Given the description of an element on the screen output the (x, y) to click on. 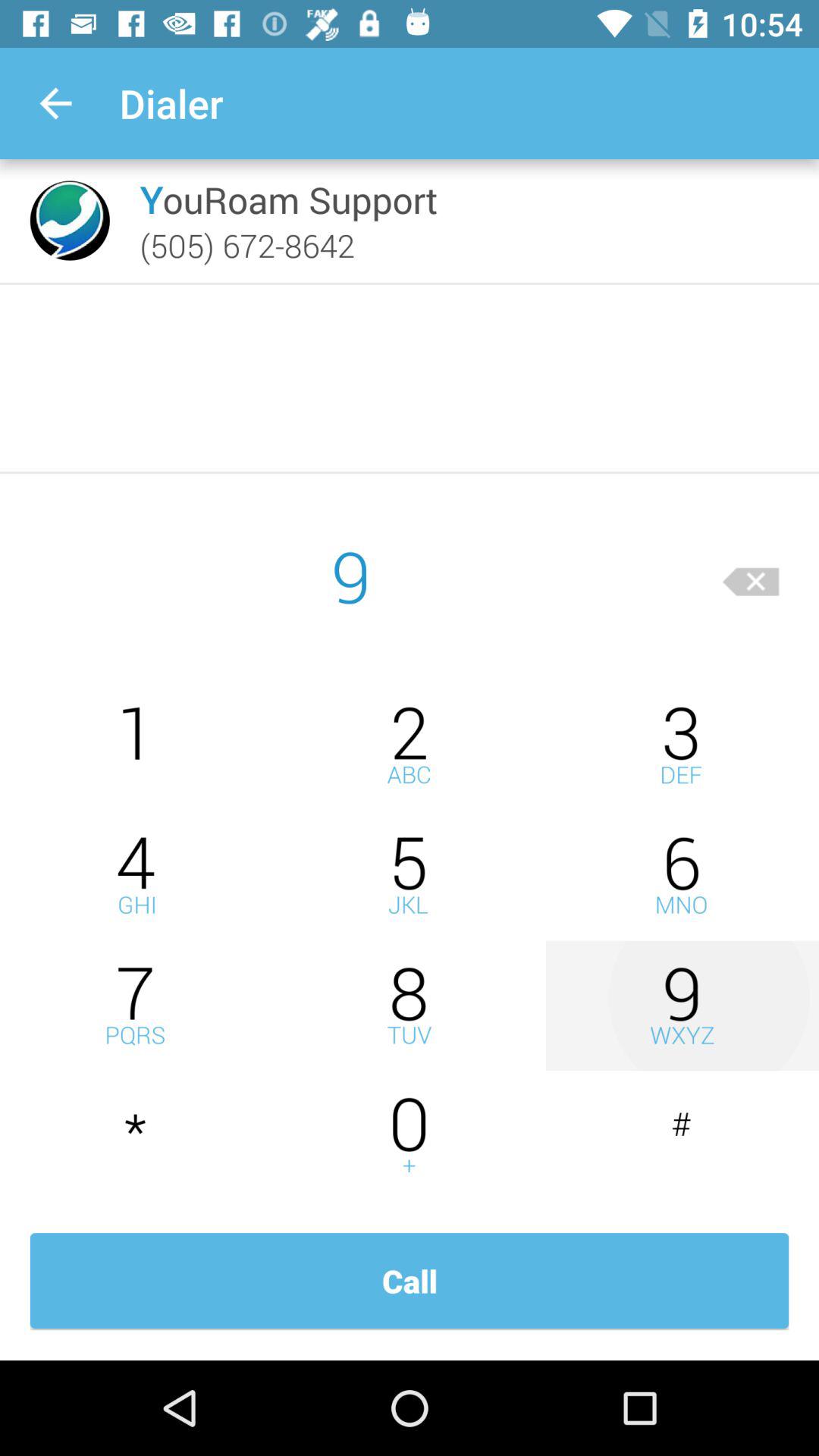
tap the icon below the youroam support item (246, 245)
